Given the description of an element on the screen output the (x, y) to click on. 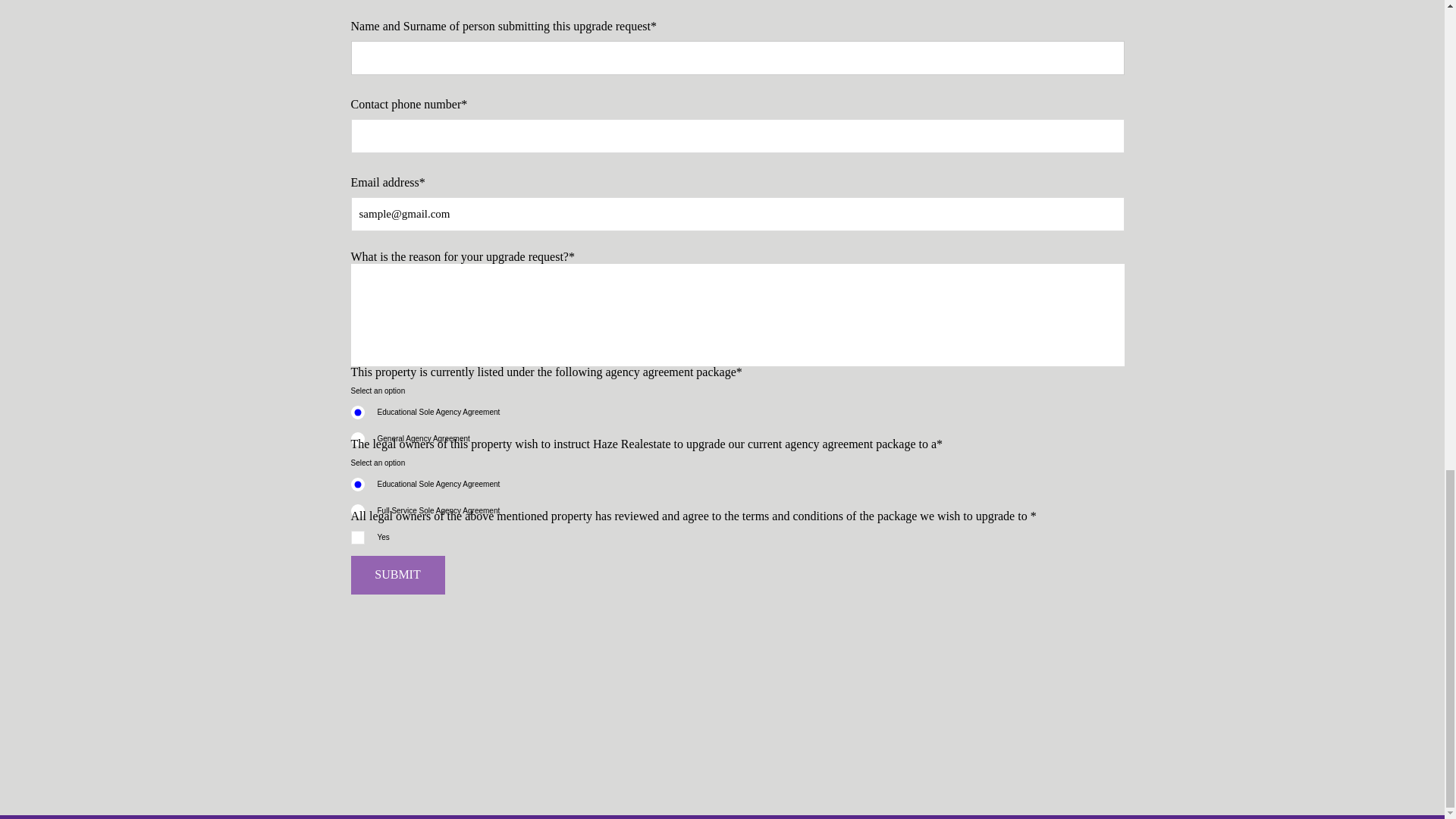
SUBMIT (397, 575)
